Given the description of an element on the screen output the (x, y) to click on. 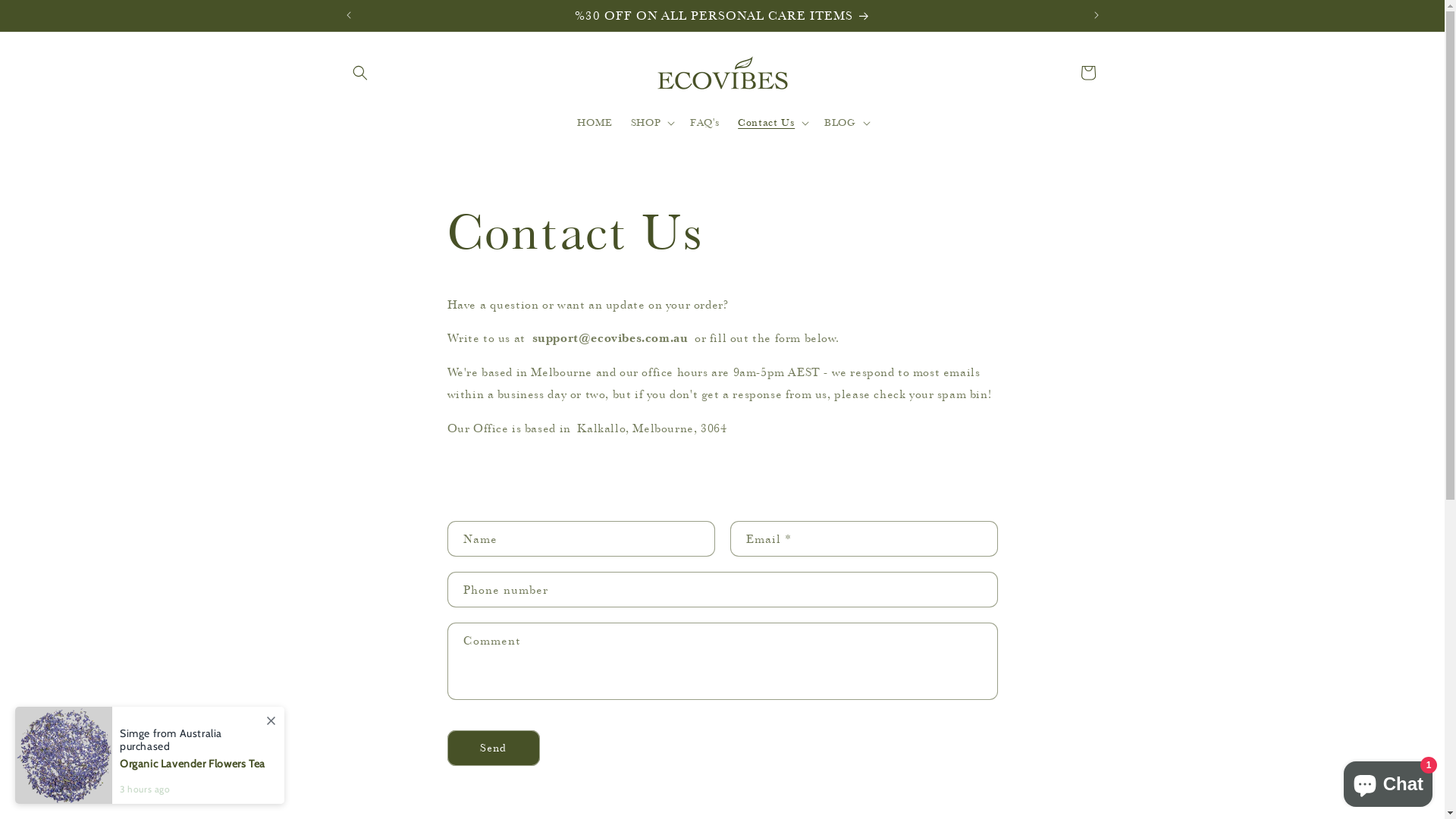
Send Element type: text (493, 747)
Shopify online store chat Element type: hover (1388, 780)
FAQ's Element type: text (704, 122)
%30 OFF ON ALL PERSONAL CARE ITEMS Element type: text (722, 15)
Cart Element type: text (1087, 72)
HOME Element type: text (594, 122)
